Given the description of an element on the screen output the (x, y) to click on. 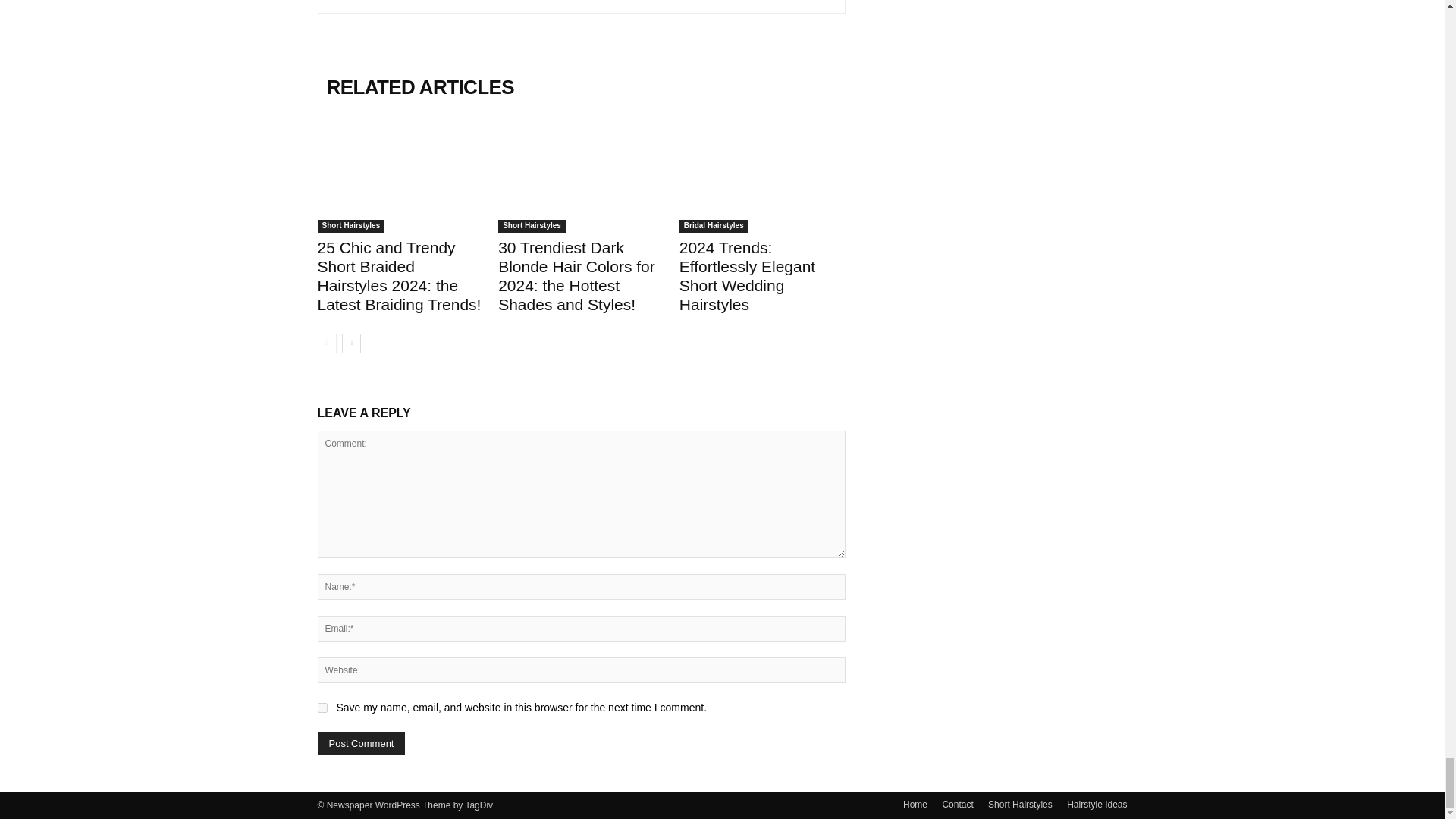
Post Comment (360, 743)
yes (321, 707)
